Given the description of an element on the screen output the (x, y) to click on. 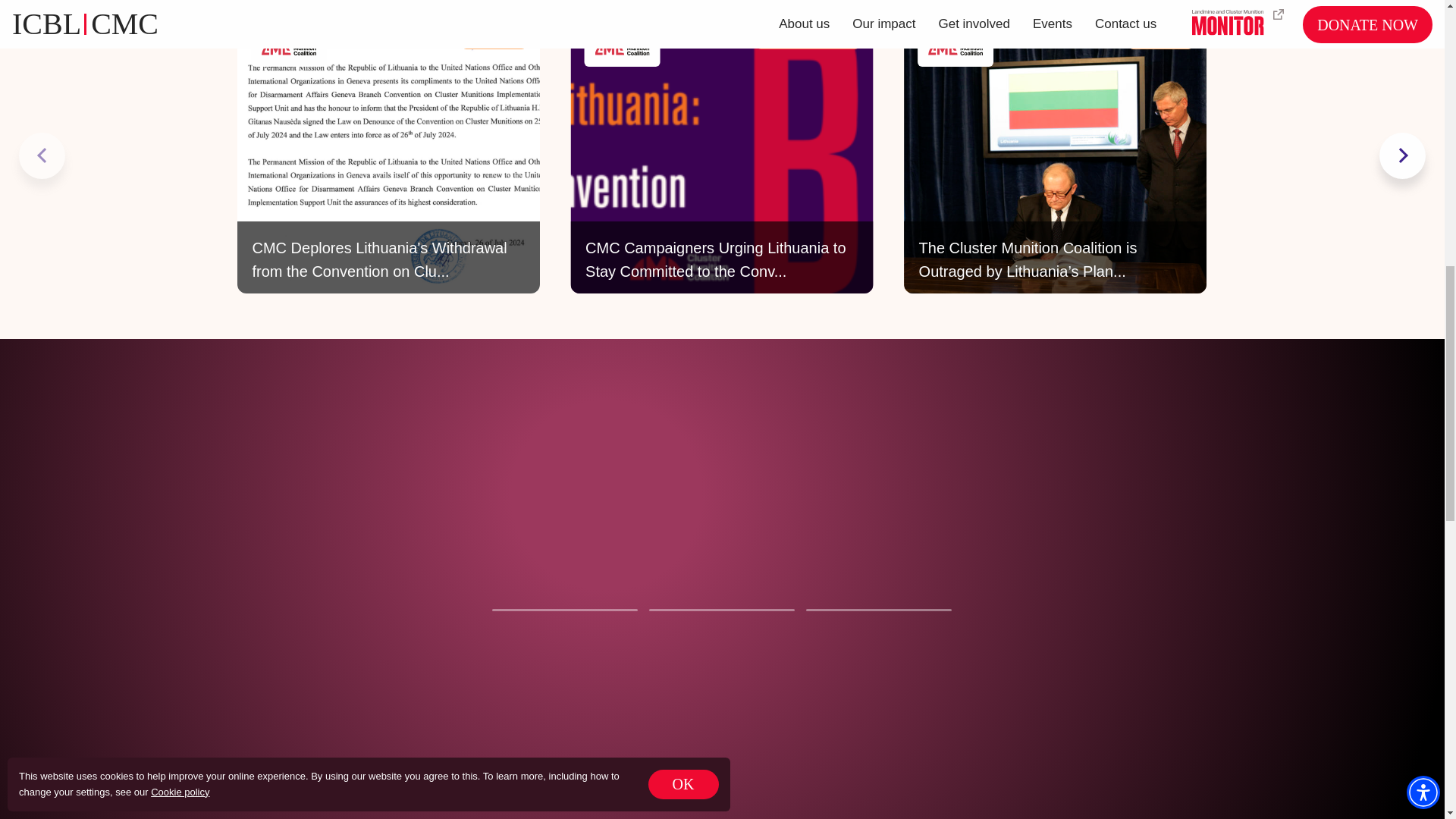
previous slide (41, 155)
next slide (1401, 155)
